Given the description of an element on the screen output the (x, y) to click on. 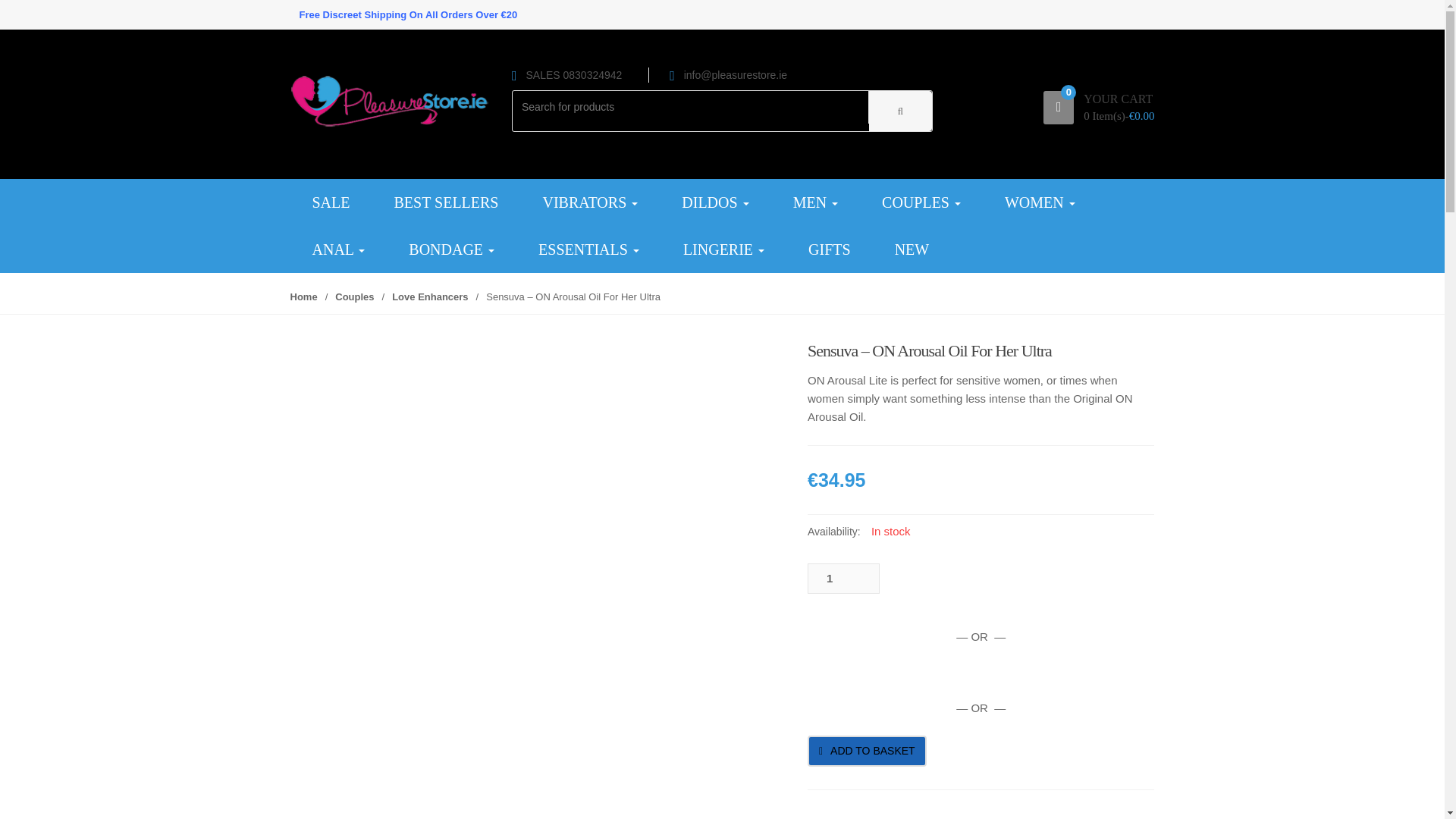
Sale (330, 202)
SALE (330, 202)
Vibrators (589, 202)
1 (843, 578)
VIBRATORS (589, 202)
DILDOS (714, 202)
BEST SELLERS (445, 202)
Best Sellers (445, 202)
